Given the description of an element on the screen output the (x, y) to click on. 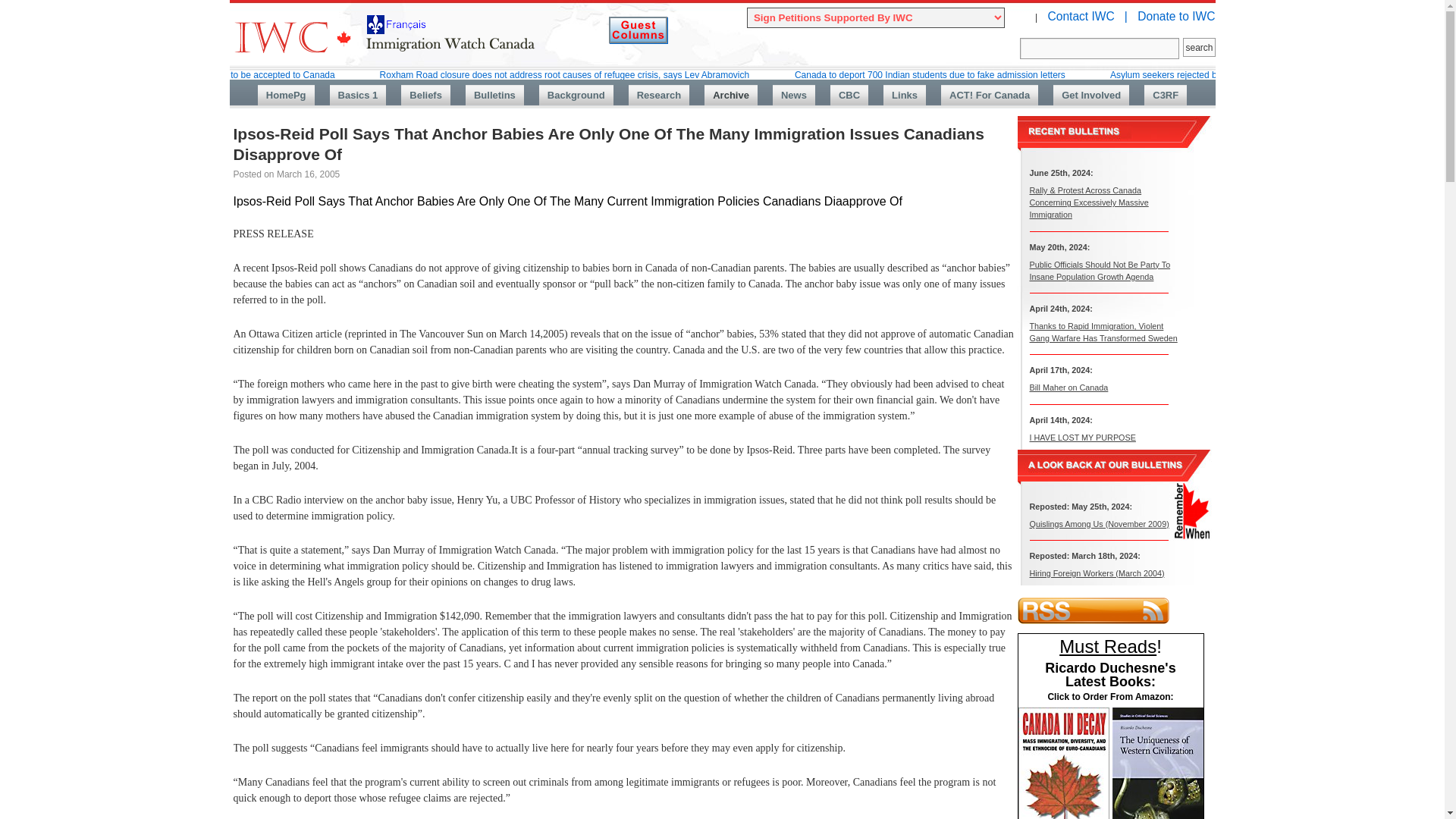
Donate to IWC (1175, 15)
Permanent Link to I HAVE LOST MY PURPOSE (1082, 436)
Migrant struggling to be accepted to Canada (244, 74)
Permanent Link to Bill Maher on Canada (1068, 387)
Canadians Citizens For Charter Rights and Freedoms (1165, 95)
search (1198, 46)
Search (1099, 47)
Asylum seekers rejected by Canada end up stranded in U.S (1230, 74)
search (1198, 46)
